Given the description of an element on the screen output the (x, y) to click on. 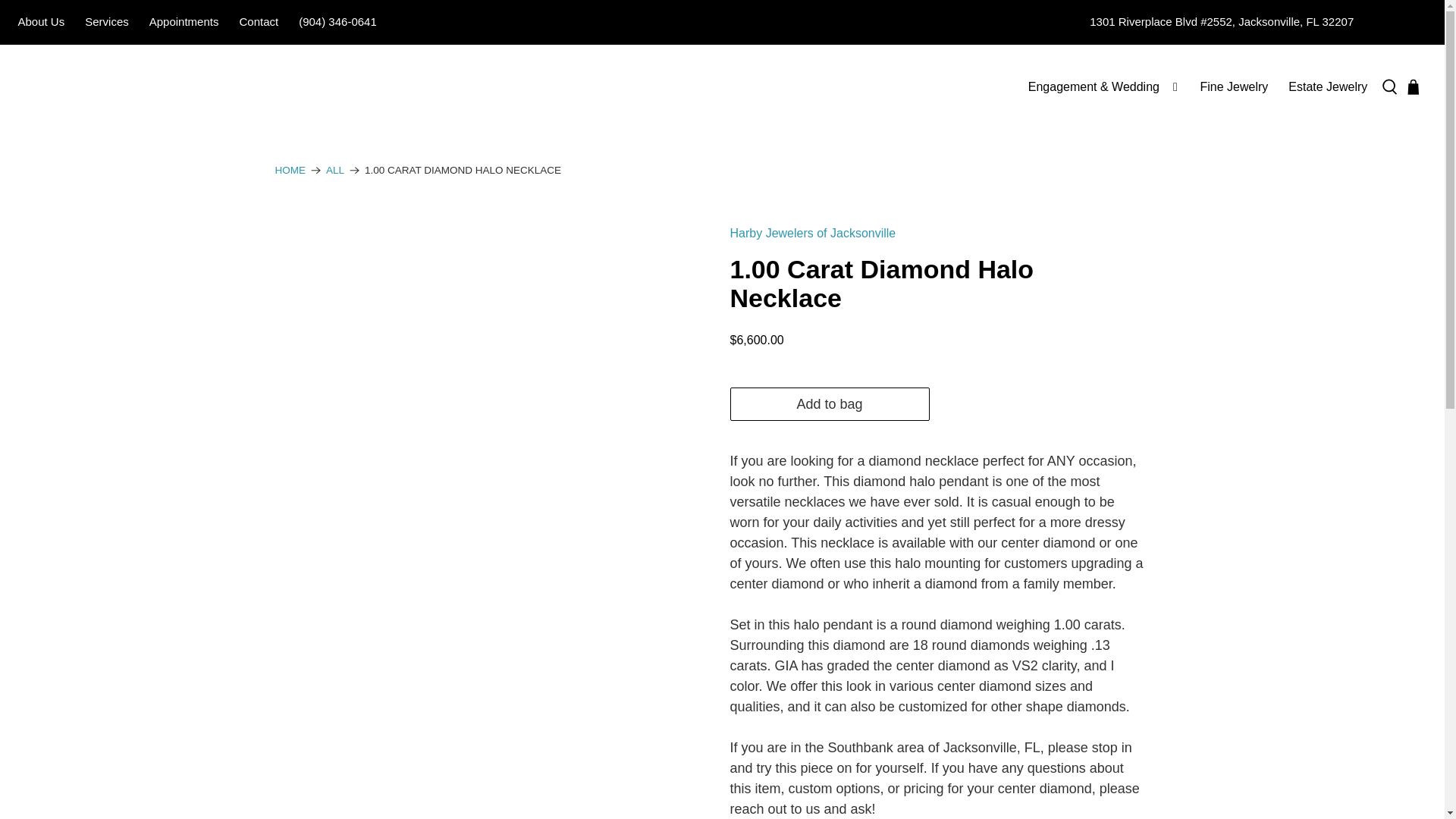
Services (107, 22)
Harby Jewelers of Jacksonville (812, 232)
Harby Jewelers of Jacksonville (290, 170)
Fine Jewelry (1233, 86)
Appointments (183, 22)
About Us (41, 22)
Harby Jewelers of Jacksonville (104, 86)
Estate Jewelry (1327, 86)
Contact (258, 22)
